Given the description of an element on the screen output the (x, y) to click on. 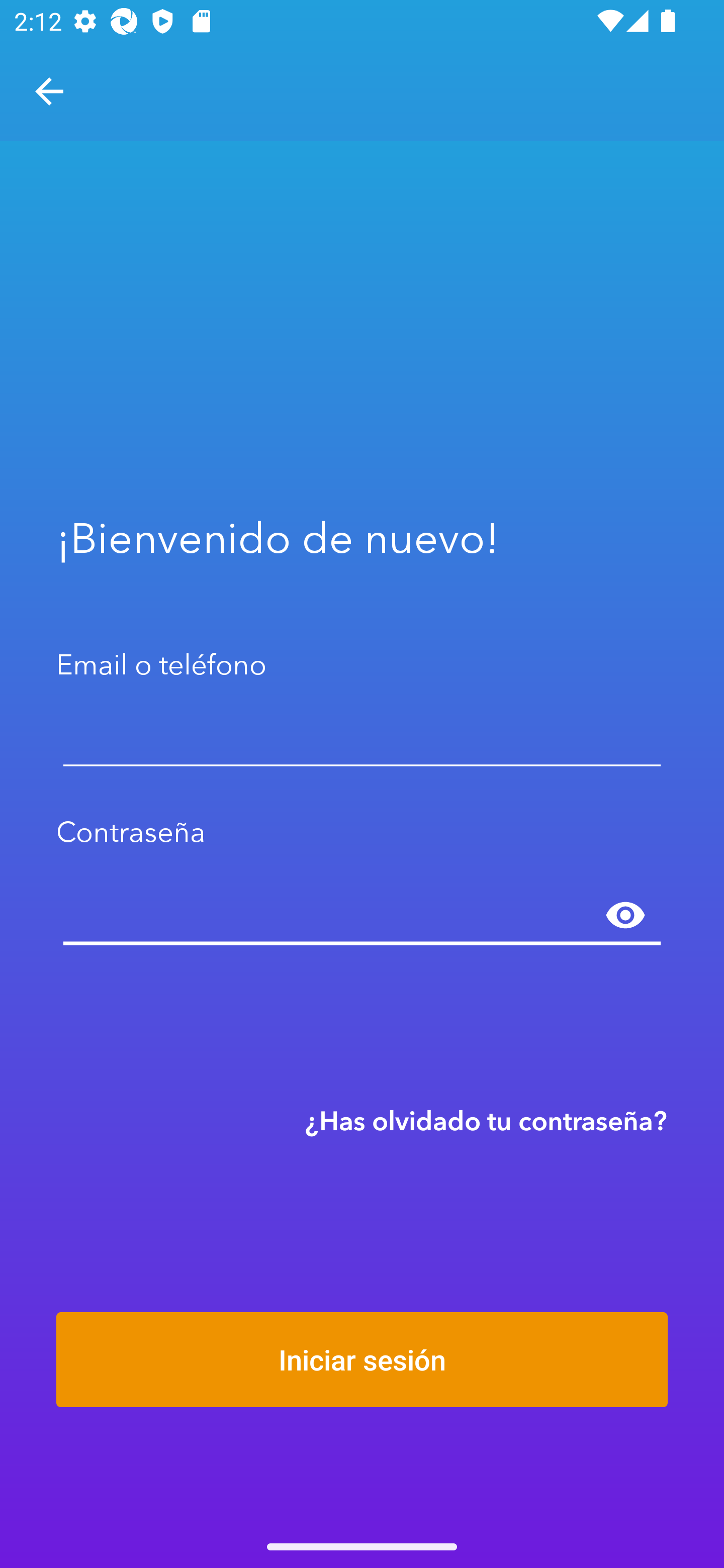
Navegar hacia arriba (49, 91)
Mostrar contraseña (625, 915)
¿Has olvidado tu contraseña? (486, 1119)
Iniciar sesión (361, 1359)
